Given the description of an element on the screen output the (x, y) to click on. 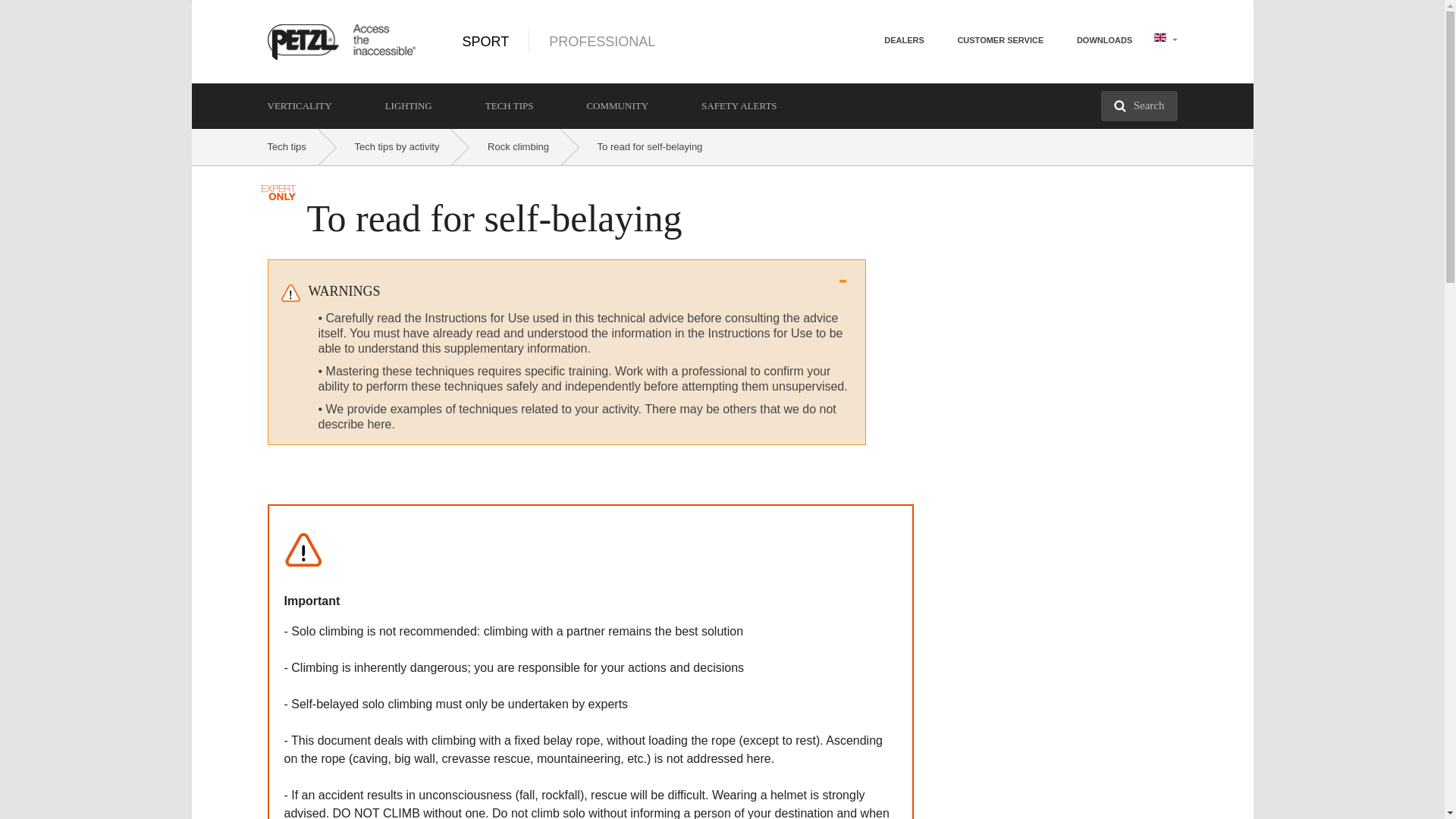
SPORT (486, 40)
DEALERS (903, 39)
PROFESSIONAL (581, 41)
DOWNLOADS (1104, 39)
CUSTOMER SERVICE (999, 39)
